Given the description of an element on the screen output the (x, y) to click on. 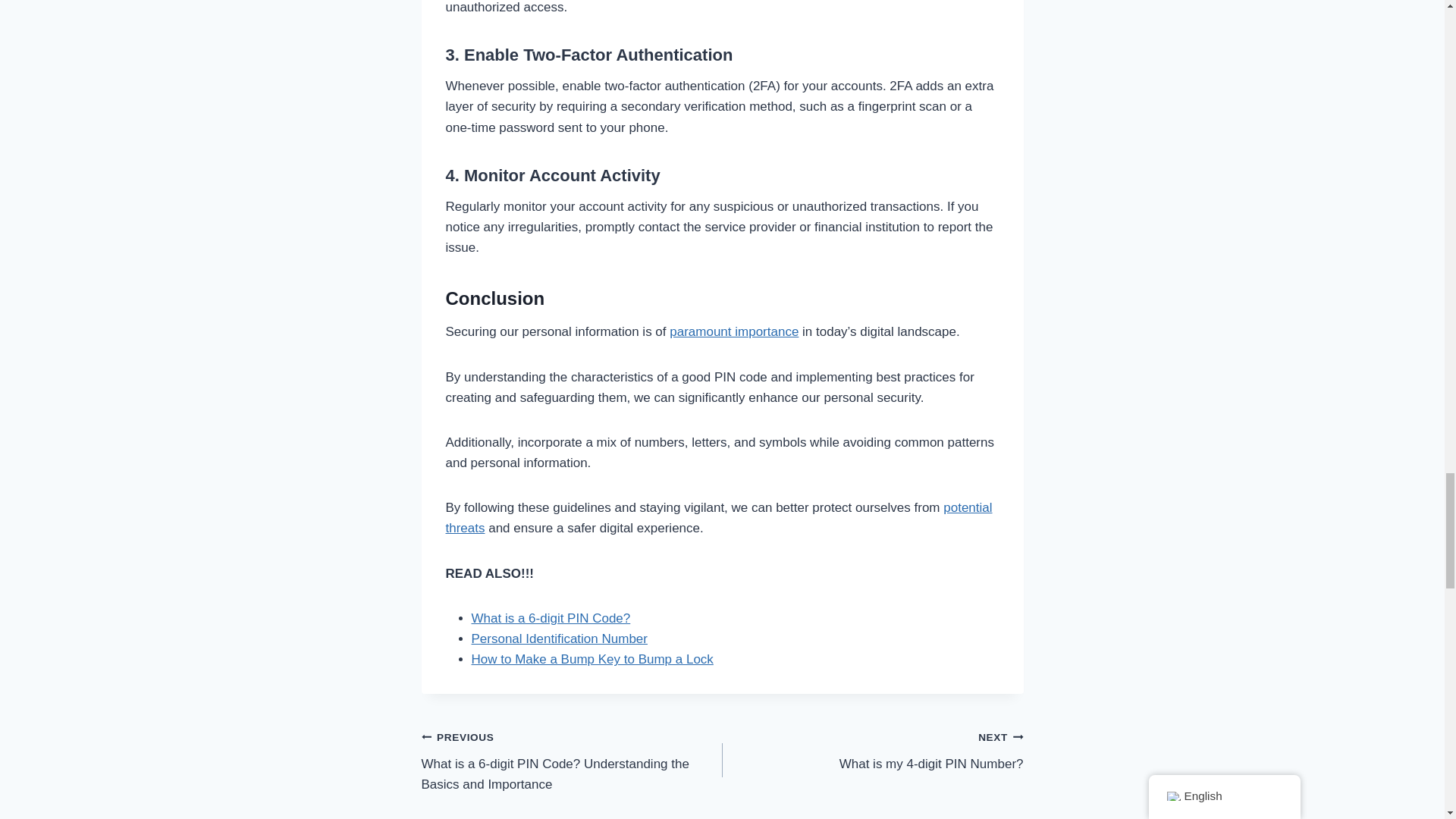
Personal Identification Number (559, 638)
paramount importance (733, 331)
How to Make a Bump Key to Bump a Lock (592, 658)
What is a 6-digit PIN Code? (550, 617)
potential threats (718, 517)
